Given the description of an element on the screen output the (x, y) to click on. 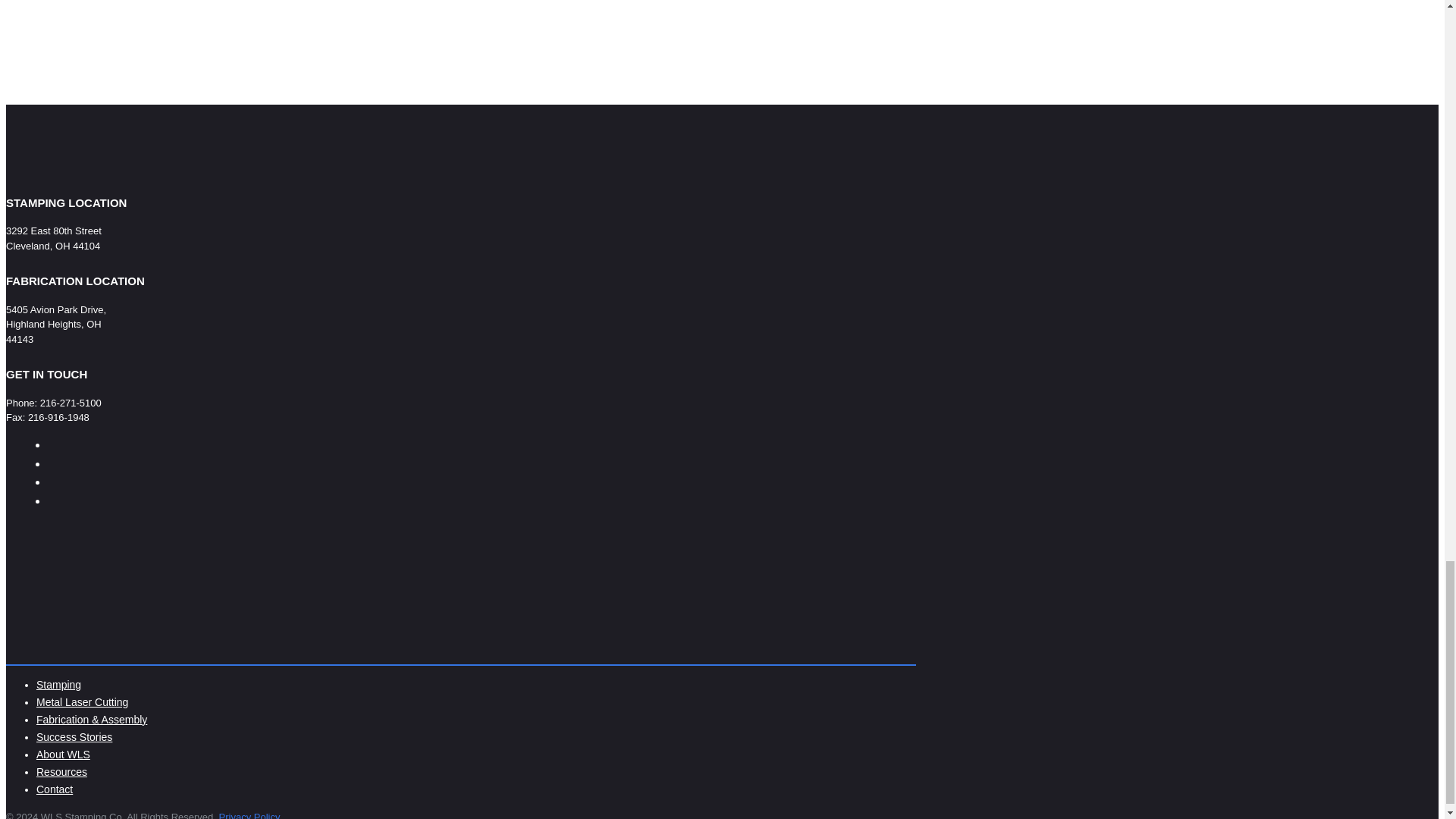
Contact (54, 788)
Success Stories (74, 736)
Stamping (58, 684)
Metal Laser Cutting (82, 702)
About WLS (63, 754)
Resources (61, 771)
